Given the description of an element on the screen output the (x, y) to click on. 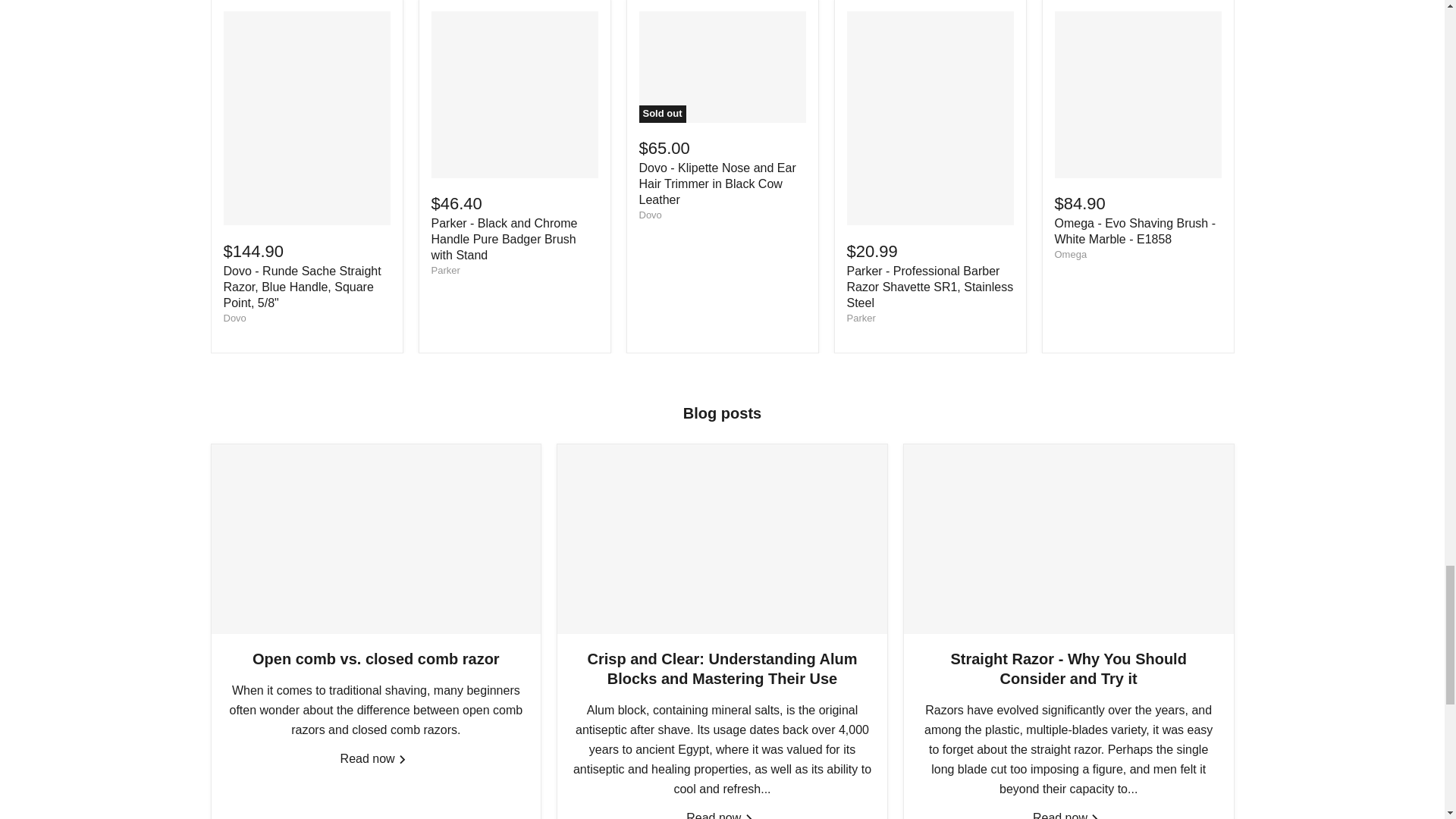
Parker (445, 270)
Parker (860, 317)
Omega (1070, 254)
Dovo (650, 214)
Dovo (234, 317)
